Given the description of an element on the screen output the (x, y) to click on. 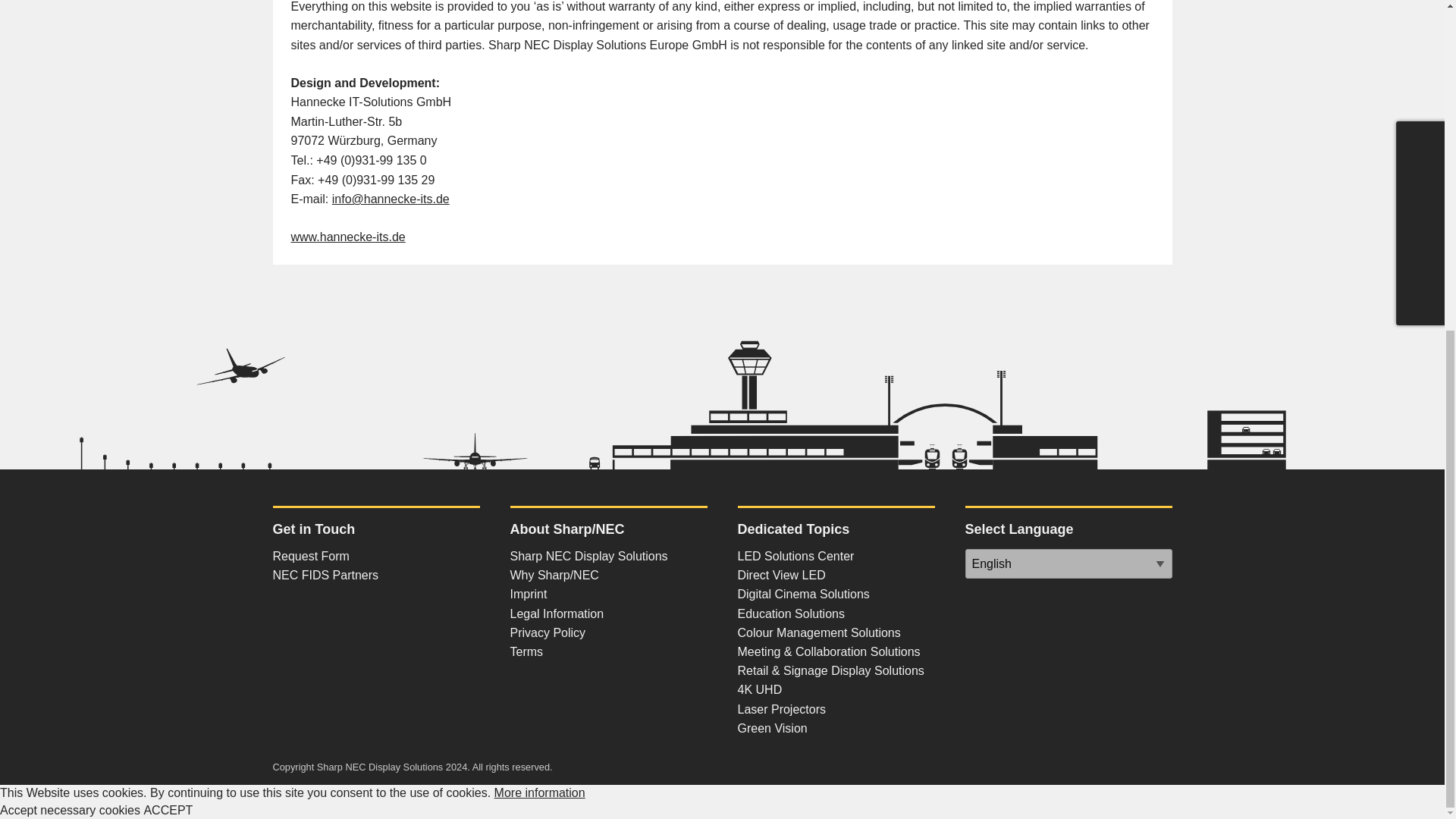
Education Solutions (790, 613)
Terms (526, 651)
4K UHD (758, 689)
Digital Cinema Solutions (802, 594)
Laser Projectors (780, 708)
NEC FIDS Partners (325, 574)
Green Vision (771, 727)
More information (540, 792)
Colour Management Solutions (817, 632)
Privacy Policy (547, 632)
Imprint (528, 594)
Colour Management Solutions (817, 632)
Sharp NEC Facebook page (393, 604)
Accept necessary cookies (69, 810)
Sharp NEC YouTube channel (320, 604)
